Given the description of an element on the screen output the (x, y) to click on. 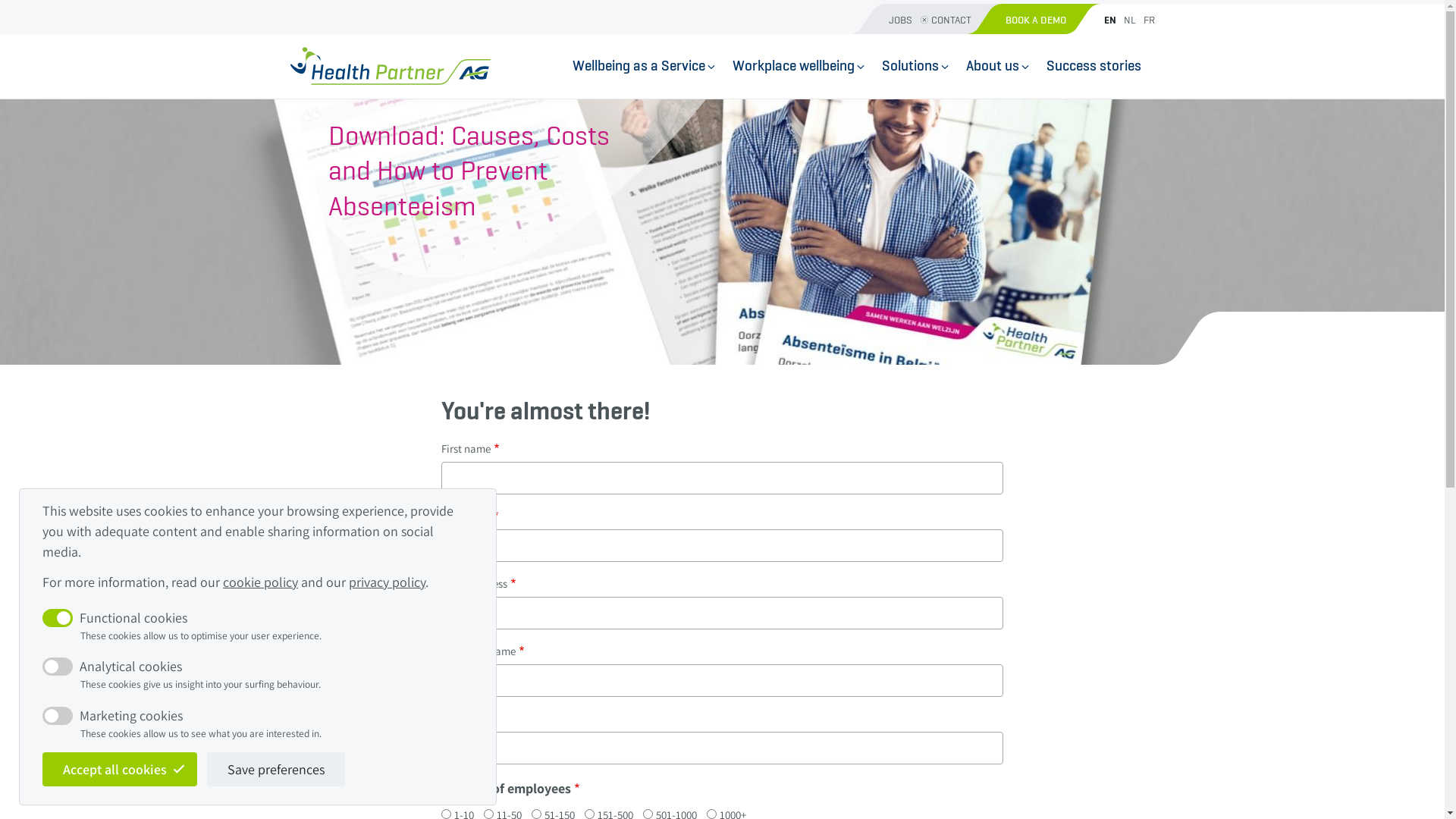
privacy policy Element type: text (386, 581)
Success stories Element type: text (1093, 66)
Skip to main navigation Element type: text (0, 0)
Accept all cookies Element type: text (119, 769)
Save preferences Element type: text (276, 769)
FR Element type: text (1146, 18)
cookie policy Element type: text (260, 581)
BOOK A DEMO Element type: text (1050, 18)
CONTACT Element type: text (963, 18)
Home Element type: hover (389, 65)
EN Element type: text (1109, 18)
JOBS Element type: text (905, 18)
NL Element type: text (1129, 18)
